Given the description of an element on the screen output the (x, y) to click on. 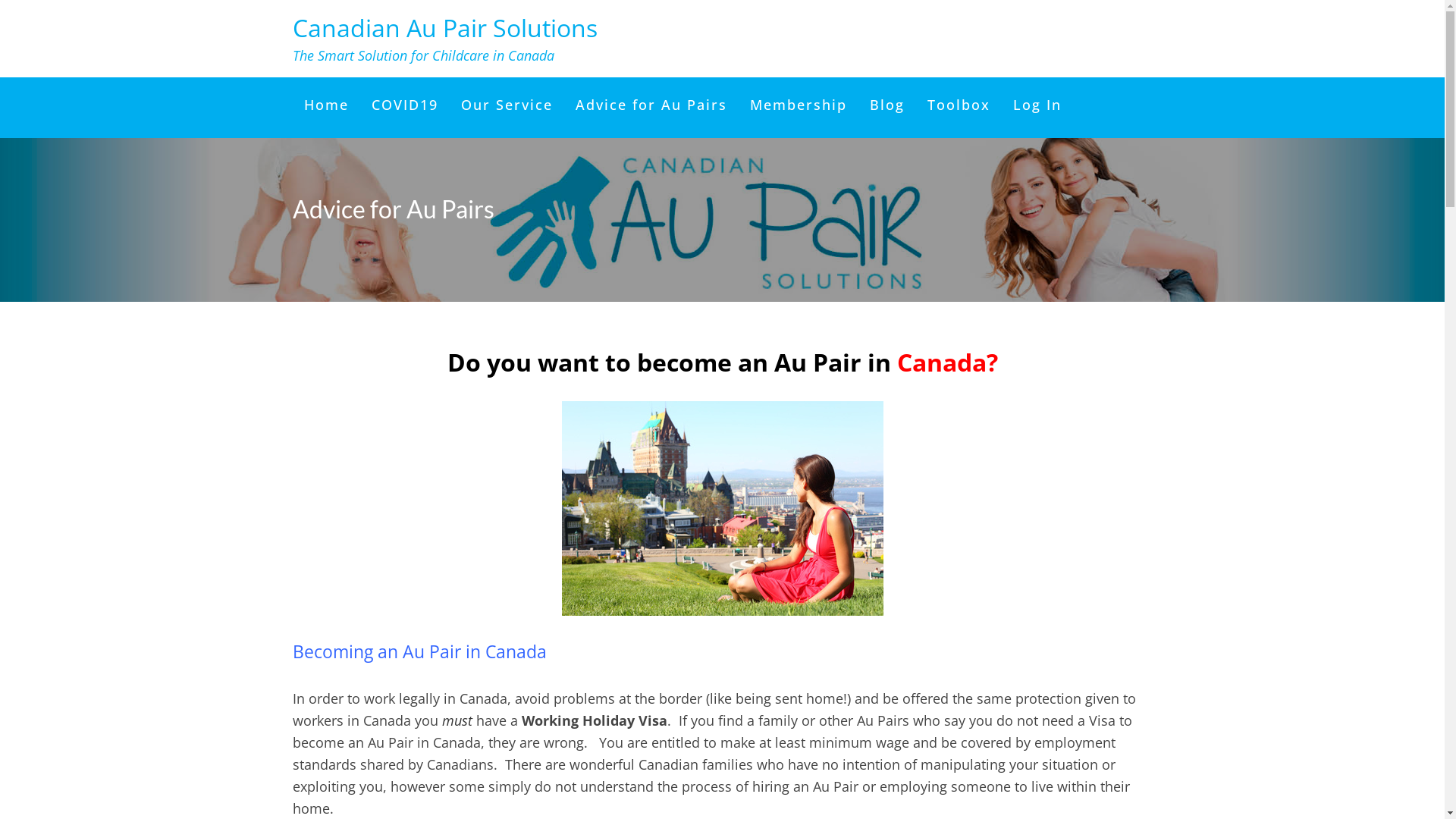
COVID19 Element type: text (403, 103)
Canadian Au Pair Solutions Element type: text (444, 26)
Blog Element type: text (887, 103)
Home Element type: text (326, 103)
Advice for Au Pairs Element type: text (651, 103)
Membership Element type: text (798, 103)
Log In Element type: text (1036, 103)
Our Service Element type: text (505, 103)
Toolbox Element type: text (958, 103)
